Given the description of an element on the screen output the (x, y) to click on. 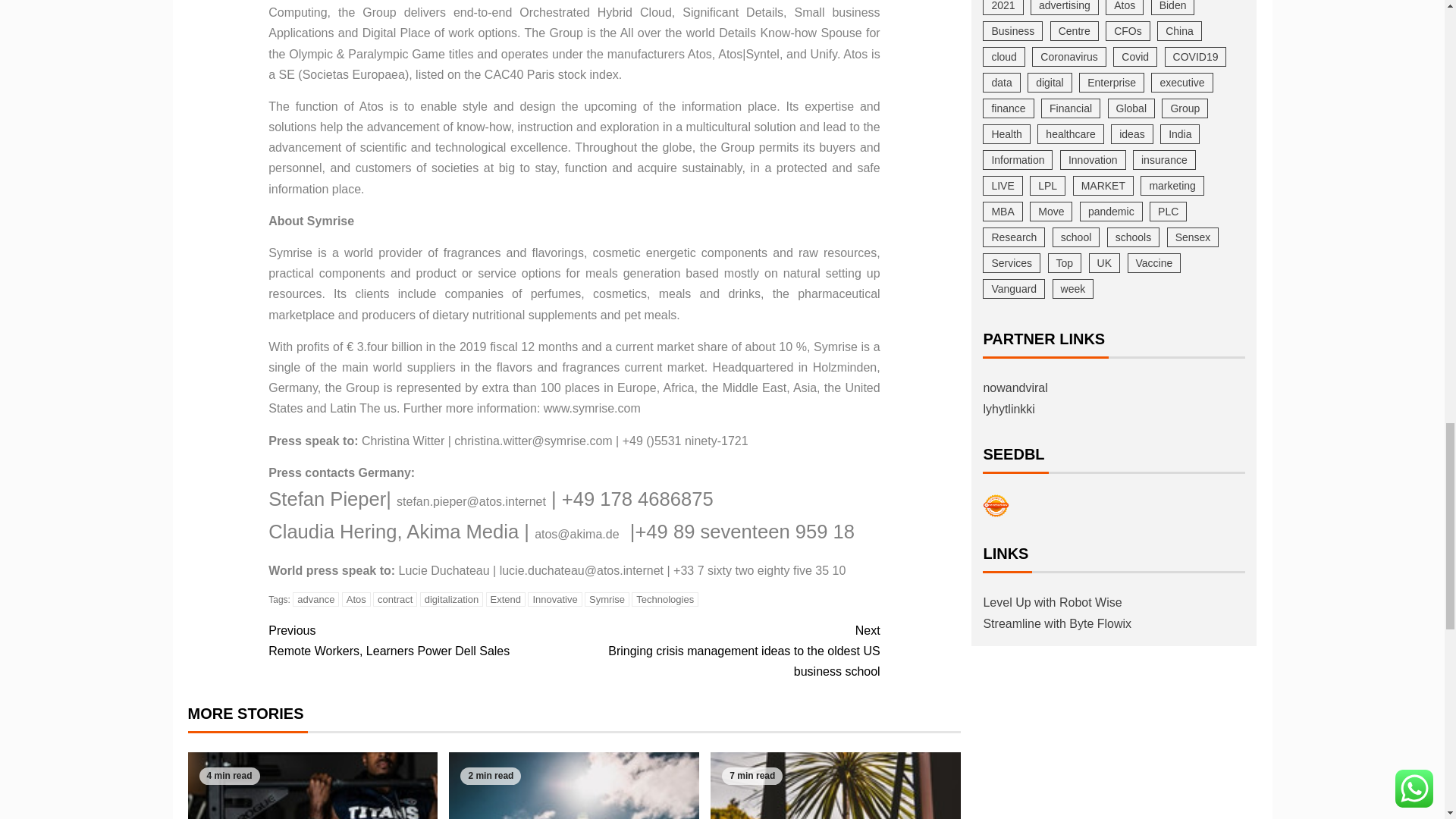
digitalization (451, 599)
How to Take Customer Service to the Next Level (573, 785)
Innovative (553, 599)
contract (394, 599)
advance (315, 599)
Atos (356, 599)
Extend (505, 599)
